Given the description of an element on the screen output the (x, y) to click on. 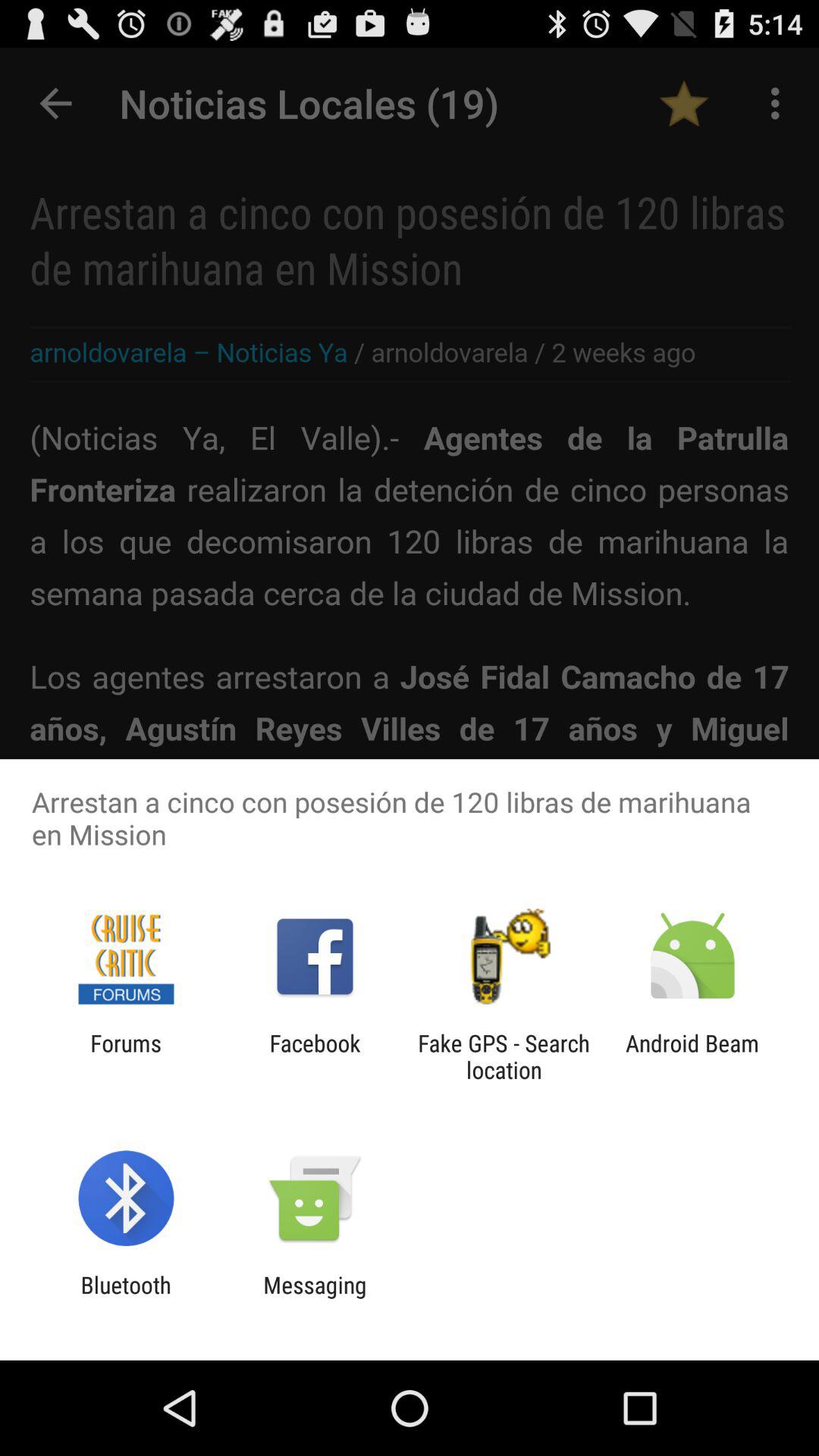
select the forums app (125, 1056)
